Given the description of an element on the screen output the (x, y) to click on. 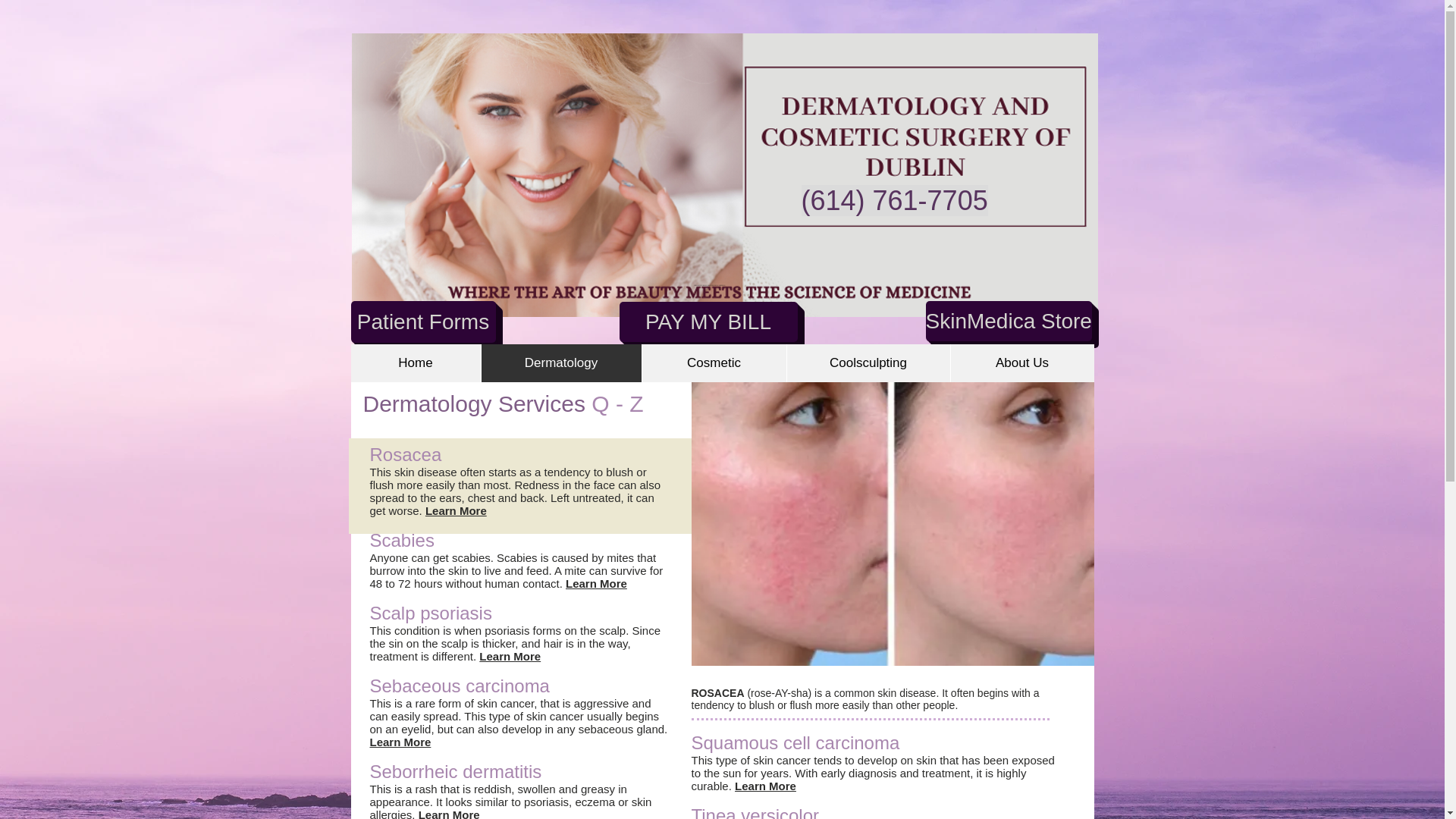
Patient Forms (422, 322)
Cosmetic (714, 362)
About Us (1021, 362)
Home (415, 362)
Learn More (455, 510)
Dermatology (561, 362)
SkinMedica Store (1007, 321)
PAY MY BILL (707, 322)
Coolsculpting (867, 362)
